Given the description of an element on the screen output the (x, y) to click on. 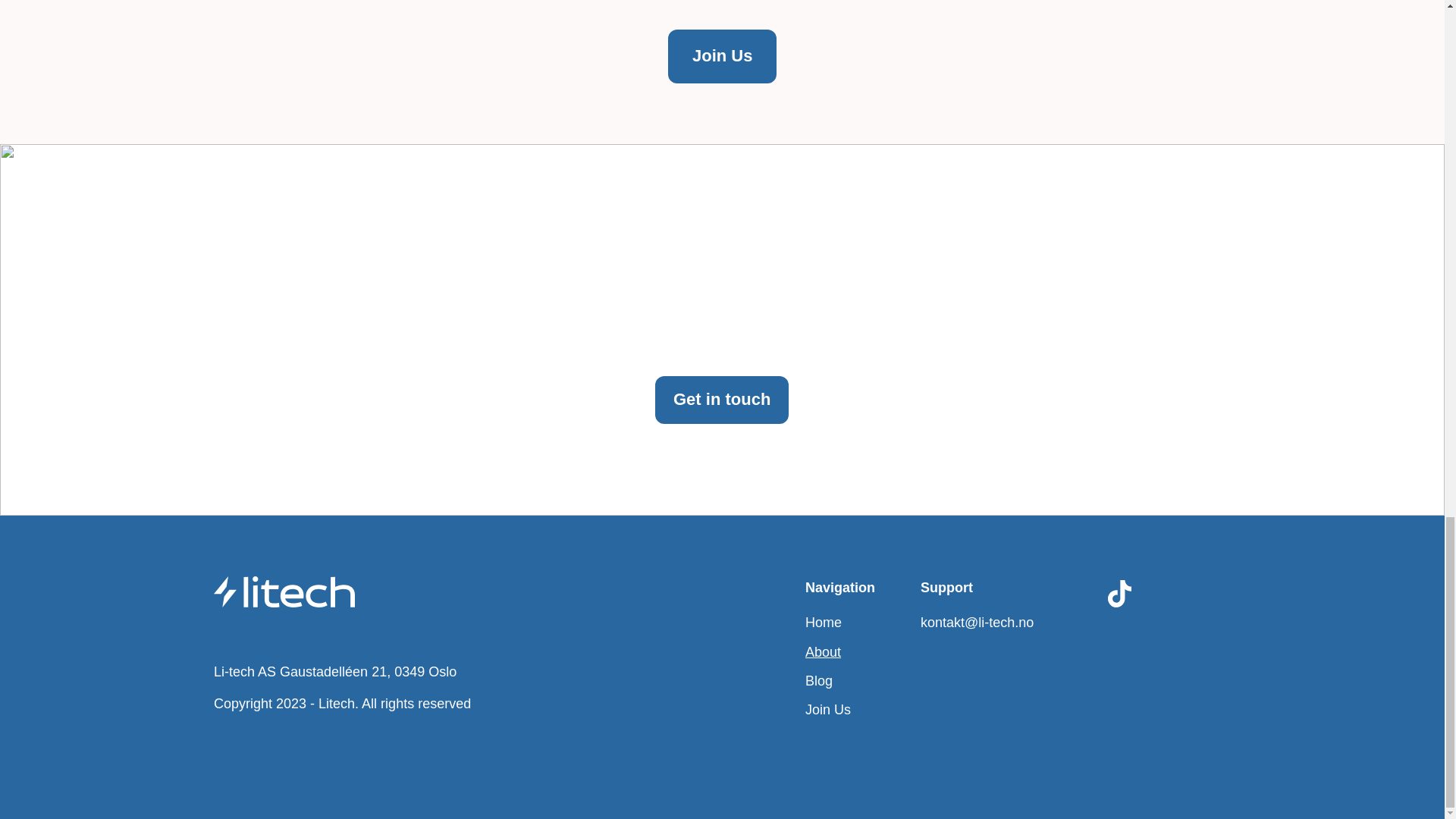
Blog (818, 680)
Home (823, 622)
Join Us (722, 56)
About (823, 652)
Get in touch (722, 399)
